Given the description of an element on the screen output the (x, y) to click on. 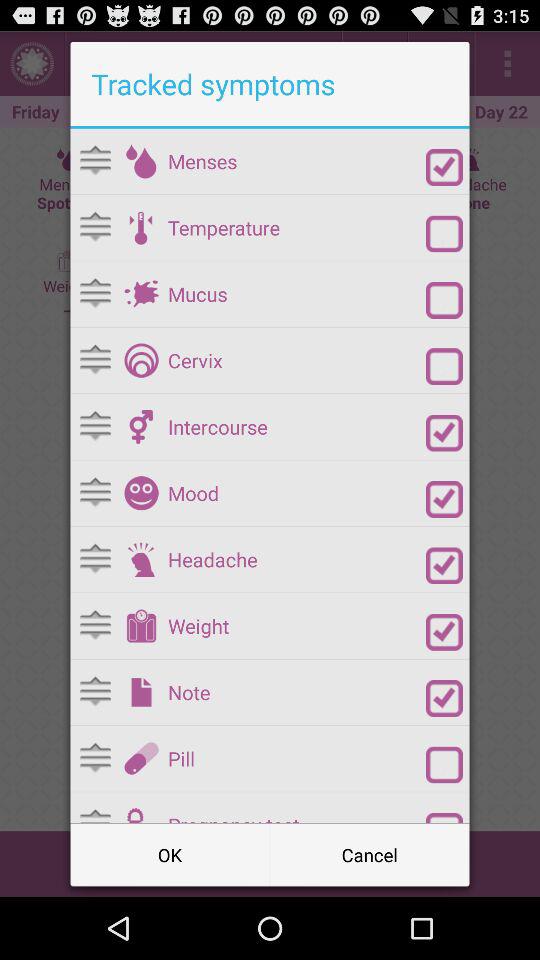
select item (444, 764)
